Given the description of an element on the screen output the (x, y) to click on. 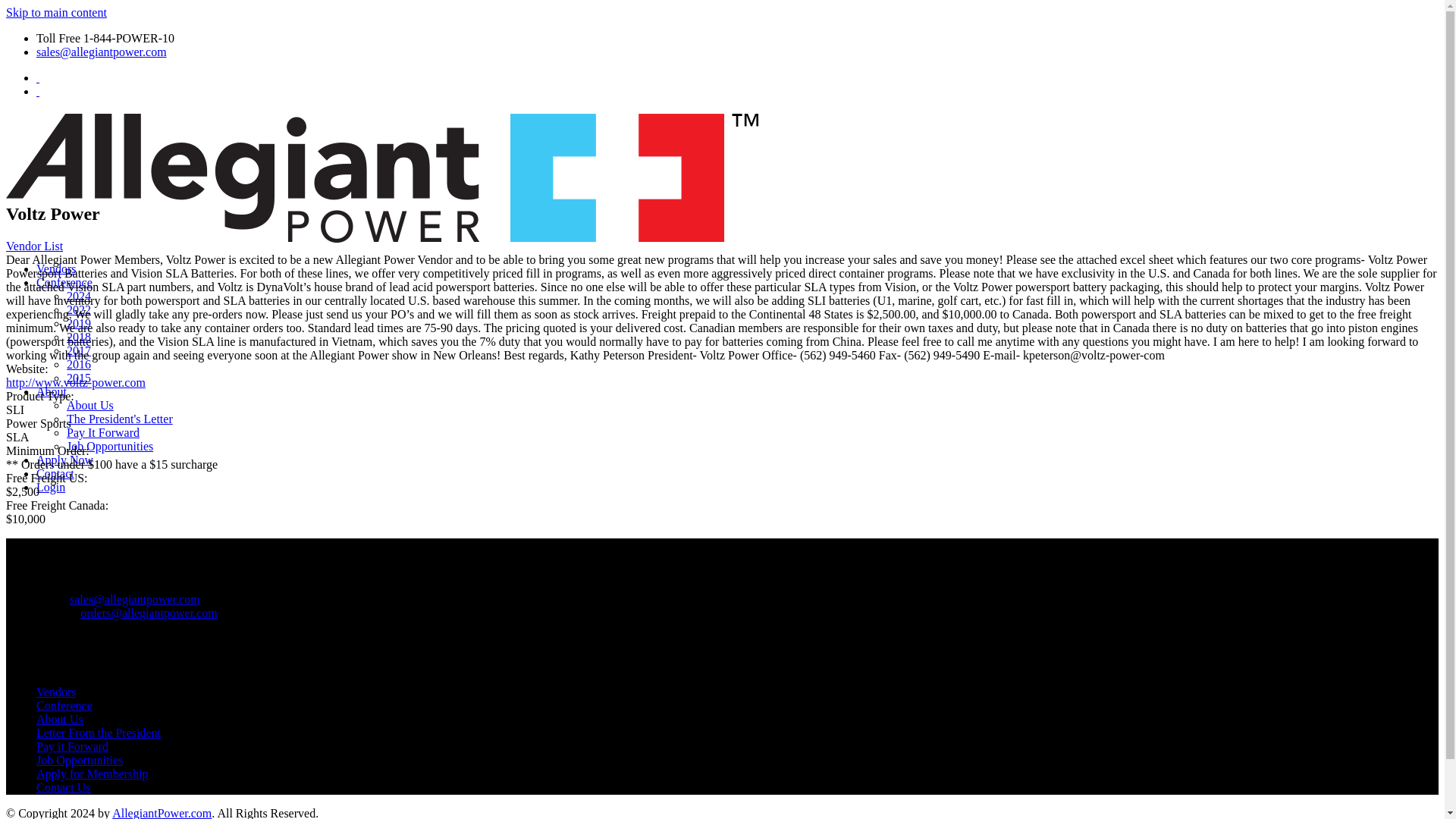
Vendors (55, 268)
Apply for Membership (92, 773)
2015 (78, 377)
Conference (64, 705)
2022 (78, 309)
The President's Letter (119, 418)
About Us (59, 718)
Job Opportunities (109, 445)
About (51, 391)
About Us (89, 404)
Contact (55, 472)
2017 (78, 350)
Pay It Forward (102, 431)
AllegiantPower.com (161, 812)
Vendor List (33, 245)
